Given the description of an element on the screen output the (x, y) to click on. 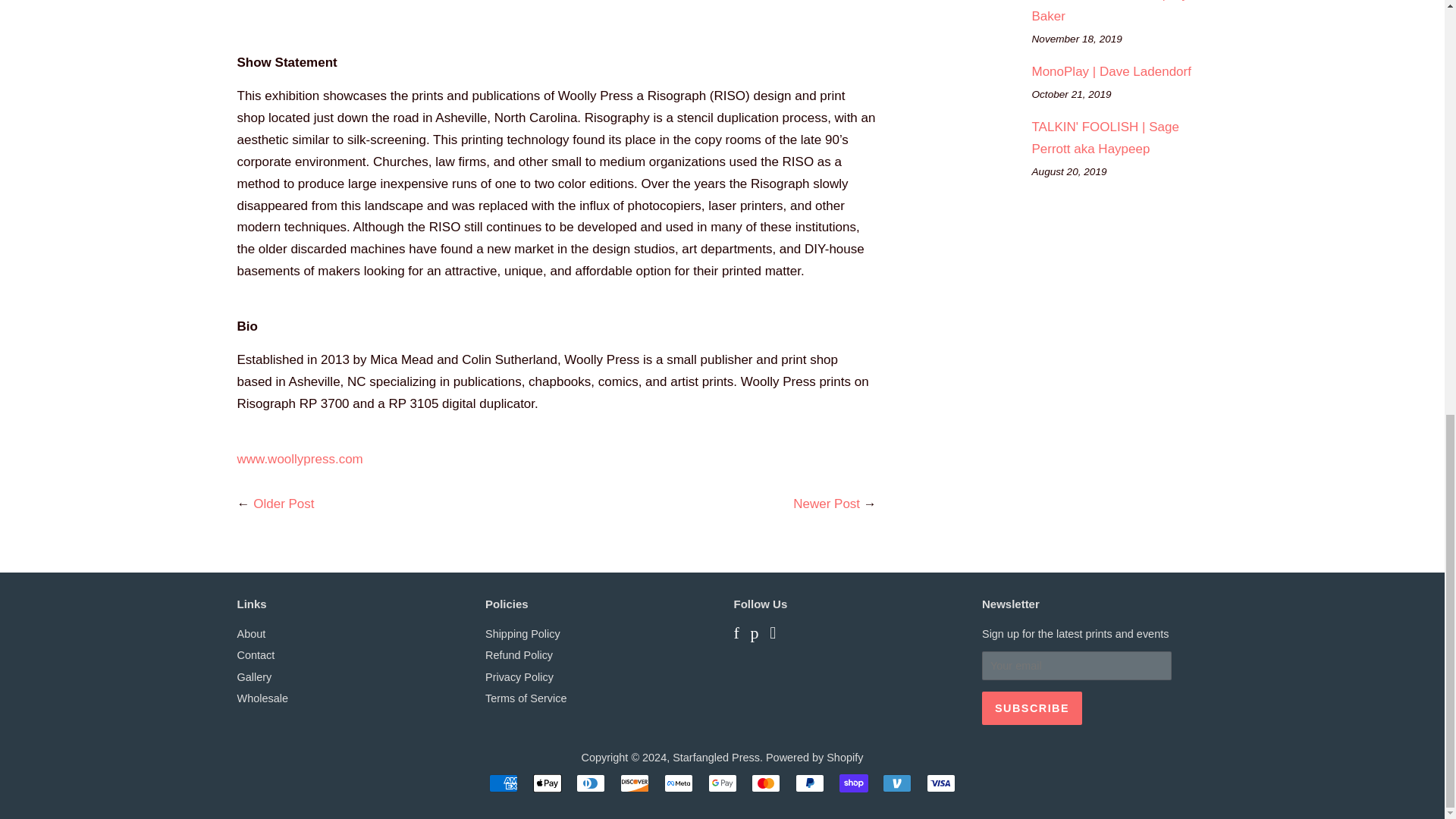
Visa (940, 782)
American Express (503, 782)
PayPal (809, 782)
Discover (634, 782)
Diners Club (590, 782)
Mastercard (765, 782)
Apple Pay (547, 782)
Venmo (896, 782)
Meta Pay (678, 782)
Shop Pay (853, 782)
Google Pay (721, 782)
Subscribe (1031, 707)
